Given the description of an element on the screen output the (x, y) to click on. 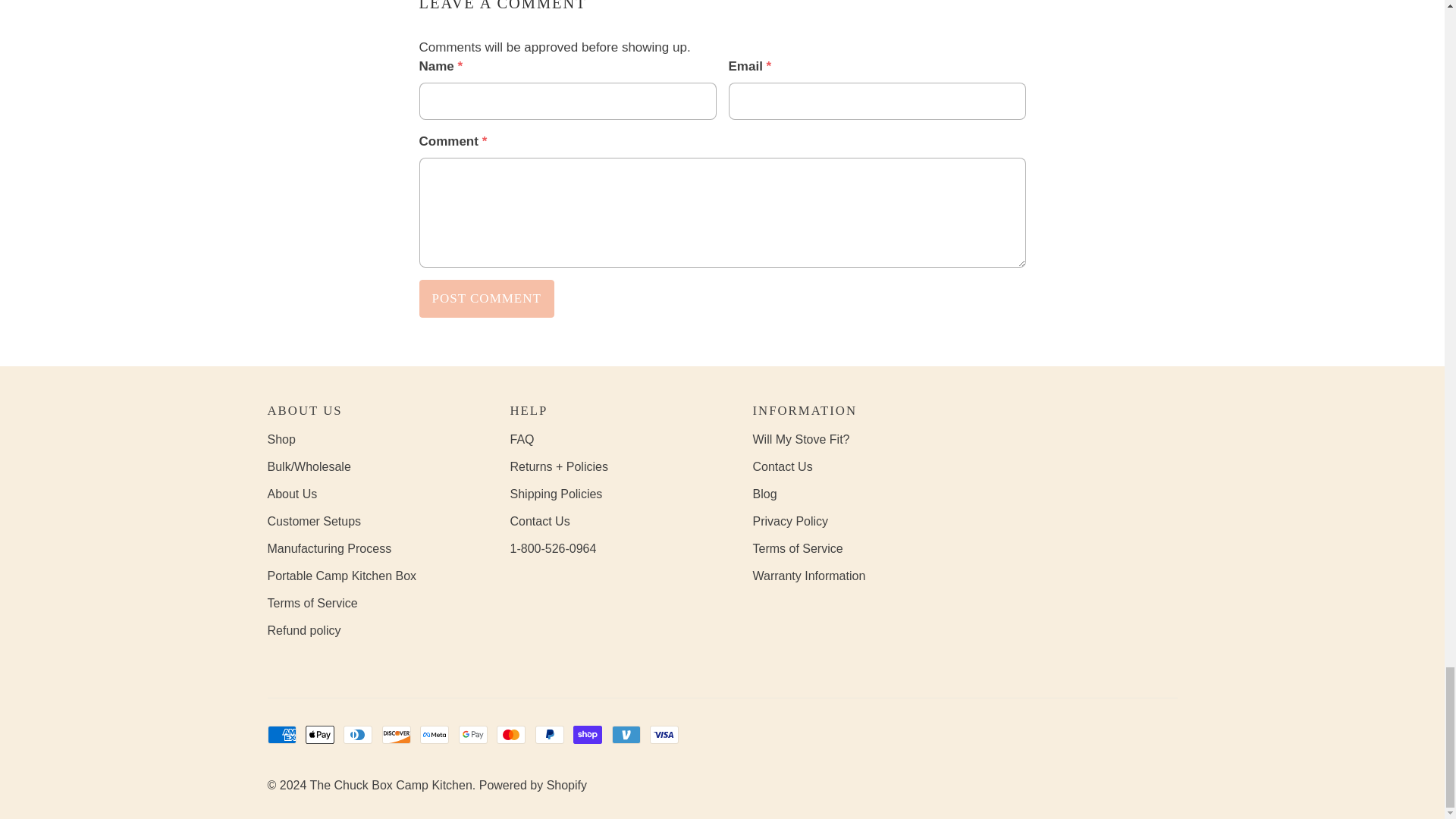
Diners Club (357, 734)
Warranty Information (808, 575)
1-800-526-0964 (552, 548)
Refund policy (303, 630)
Apple Pay (319, 734)
Contact Us (539, 521)
About Us (291, 493)
Will My Stove Fit? (800, 439)
Mastercard (510, 734)
Contact Us (782, 466)
